Given the description of an element on the screen output the (x, y) to click on. 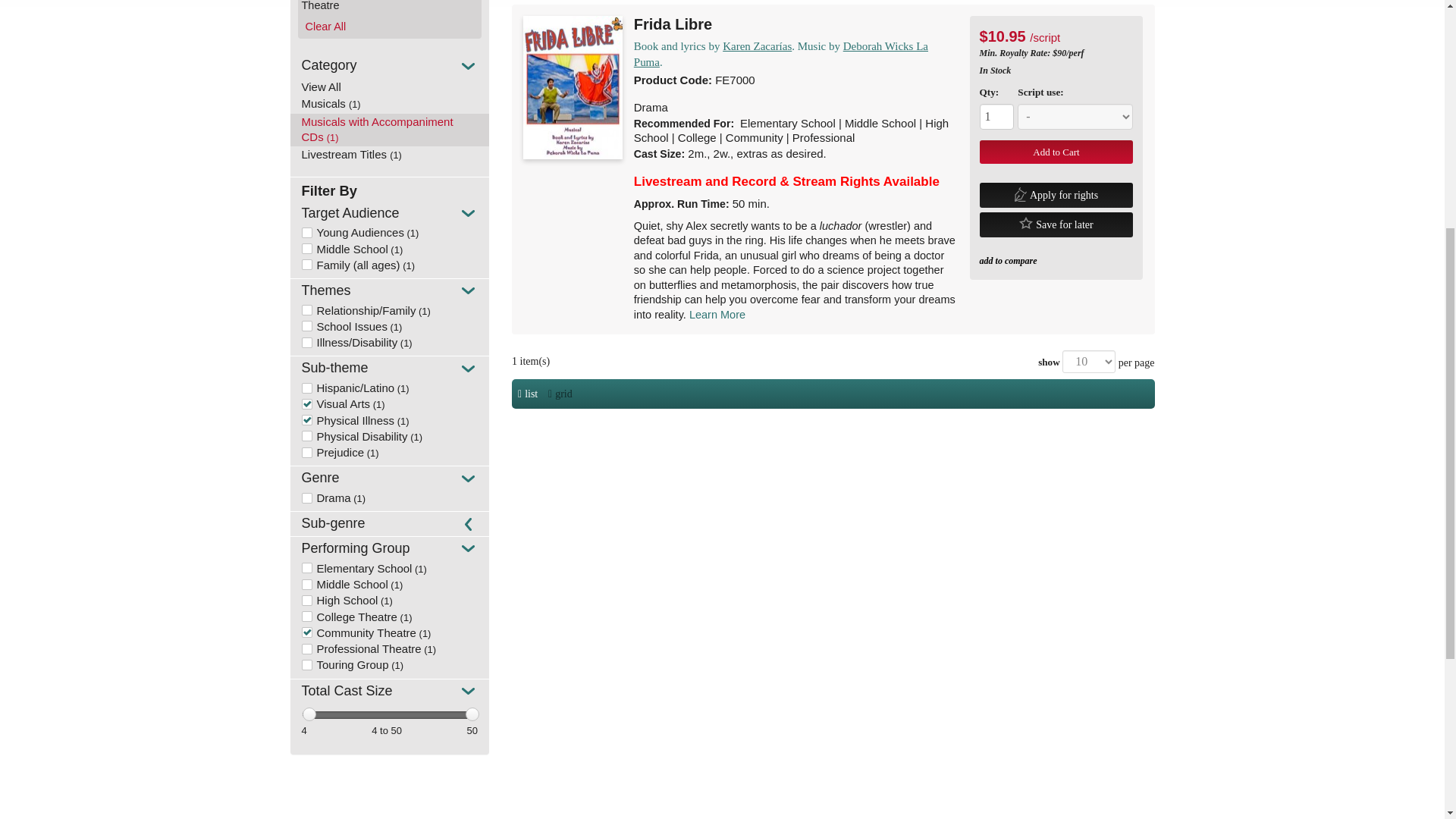
Livestream Titles (389, 154)
1 (996, 116)
Young Audiences (352, 232)
Browse (389, 86)
Visual Arts (336, 403)
School Issues (344, 326)
Musicals (389, 104)
Middle School (344, 248)
Physical Illness (347, 420)
Physical Disability (354, 436)
